Given the description of an element on the screen output the (x, y) to click on. 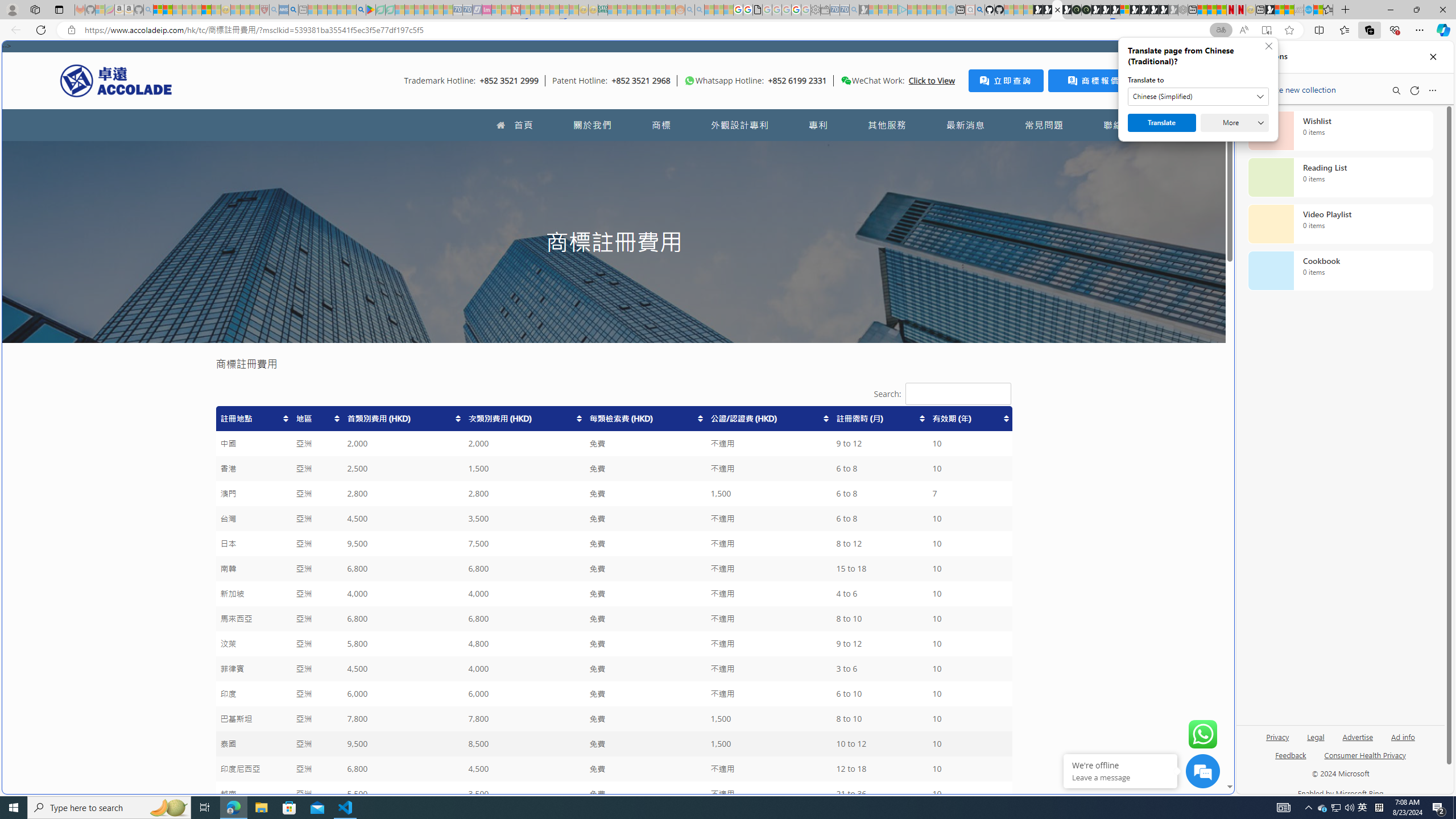
Trusted Community Engagement and Contributions | Guidelines (525, 9)
Microsoft-Report a Concern to Bing - Sleeping (99, 9)
Class: row-12 even (613, 693)
Play Cave FRVR in your browser | Games from Microsoft Start (922, 242)
5,500 (403, 793)
Services - Maintenance | Sky Blue Bikes - Sky Blue Bikes (1307, 9)
